Given the description of an element on the screen output the (x, y) to click on. 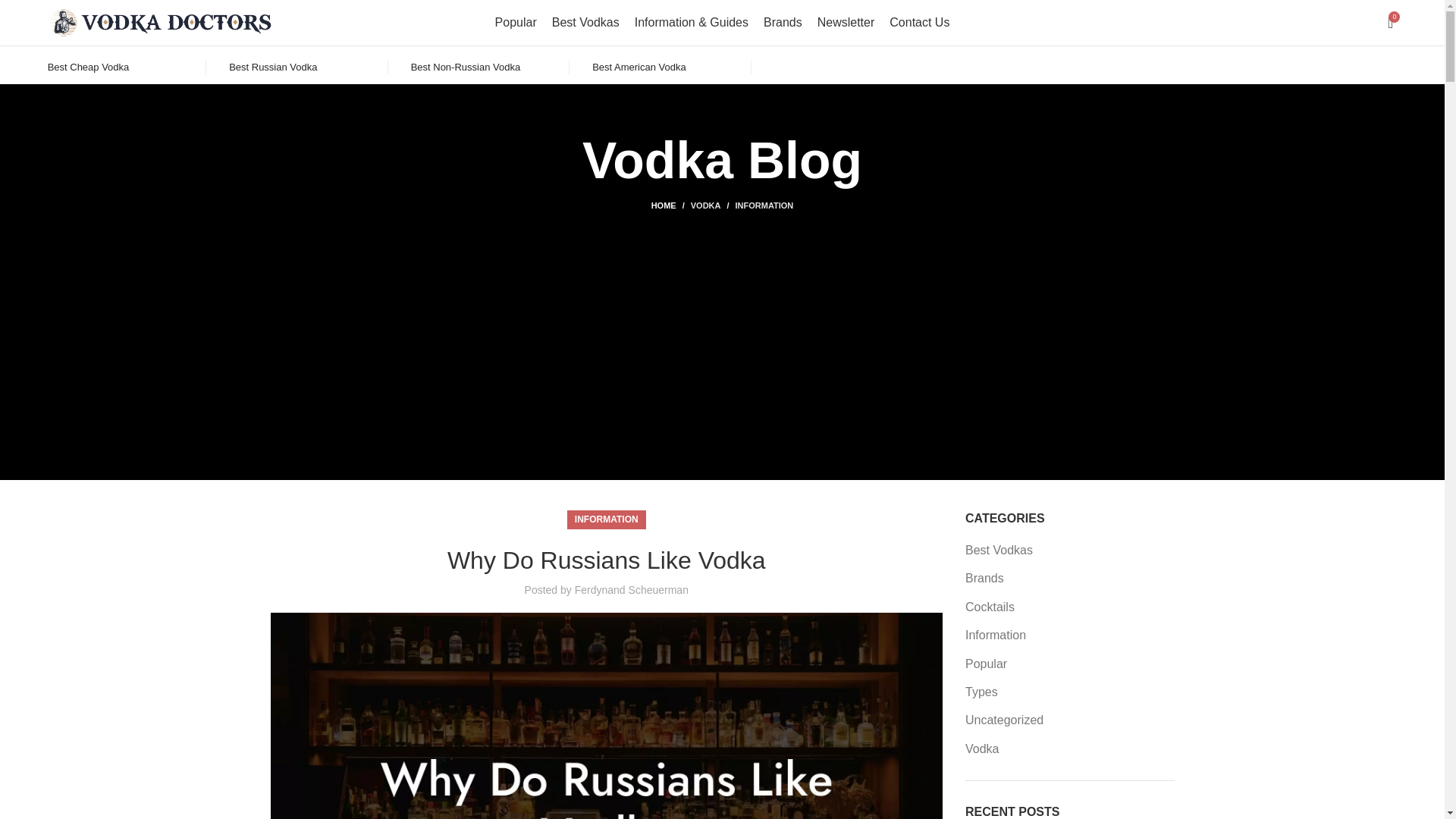
VODKA (705, 204)
Ferdynand Scheuerman (631, 589)
INFORMATION (764, 204)
INFORMATION (607, 519)
Best Non-Russian Vodka (465, 66)
Best Russian Vodka (272, 66)
HOME (670, 205)
Newsletter (845, 22)
Contact Us (919, 22)
Best Cheap Vodka (88, 66)
Best Vodkas (585, 22)
Popular (515, 22)
Brands (782, 22)
Best American Vodka (638, 66)
